Given the description of an element on the screen output the (x, y) to click on. 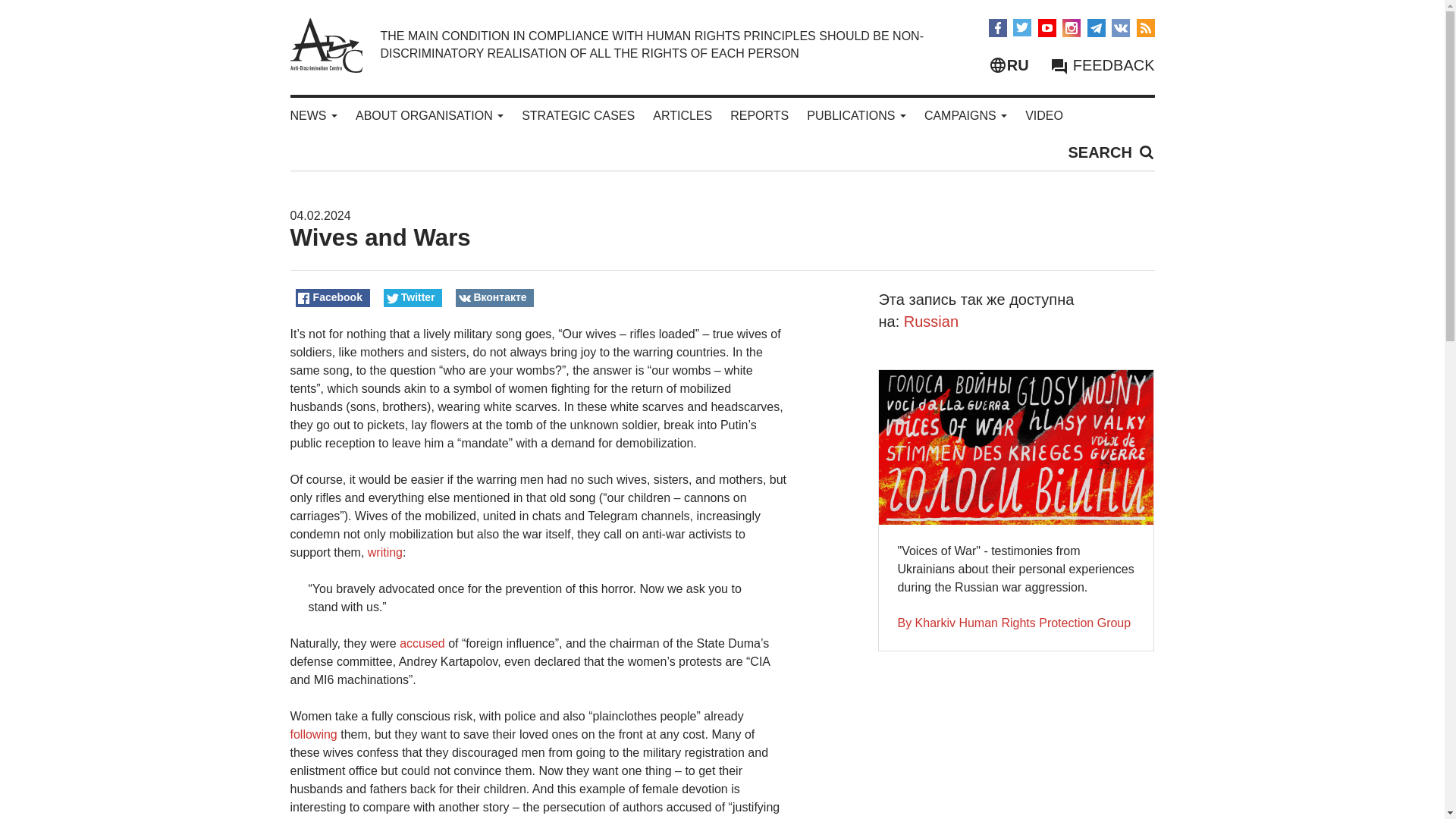
VIDEO (1043, 115)
NEWS (312, 115)
following (312, 734)
CAMPAIGNS (965, 115)
RU (1018, 64)
writing (385, 552)
ABOUT ORGANISATION (429, 115)
FEEDBACK (1101, 64)
PUBLICATIONS (855, 115)
Articles (681, 115)
Publications (855, 115)
REPORTS (759, 115)
ARTICLES (681, 115)
Strategic cases (577, 115)
SEARCH (1110, 152)
